Given the description of an element on the screen output the (x, y) to click on. 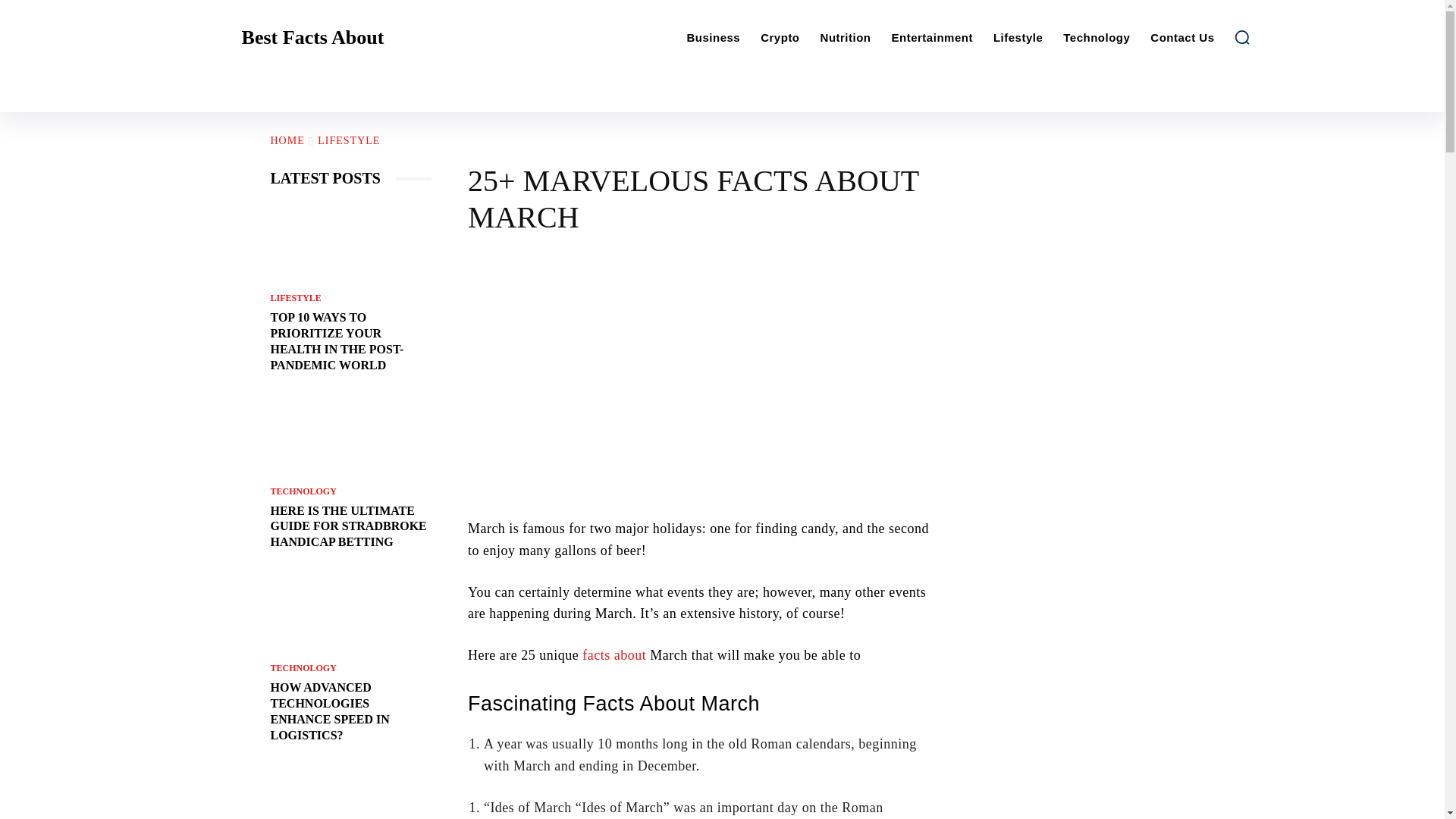
HOME (286, 140)
HERE IS THE ULTIMATE GUIDE FOR STRADBROKE HANDICAP BETTING (347, 526)
View all posts in Lifestyle (348, 140)
Contact Us (1181, 38)
Here is the Ultimate Guide for Stradbroke Handicap Betting (349, 435)
How Advanced Technologies Enhance Speed in Logistics? (328, 710)
How Advanced Technologies Enhance Speed in Logistics? (349, 613)
Business (713, 38)
Here is the Ultimate Guide for Stradbroke Handicap Betting (347, 526)
LIFESTYLE (294, 297)
TECHNOLOGY (302, 491)
TECHNOLOGY (302, 667)
